Given the description of an element on the screen output the (x, y) to click on. 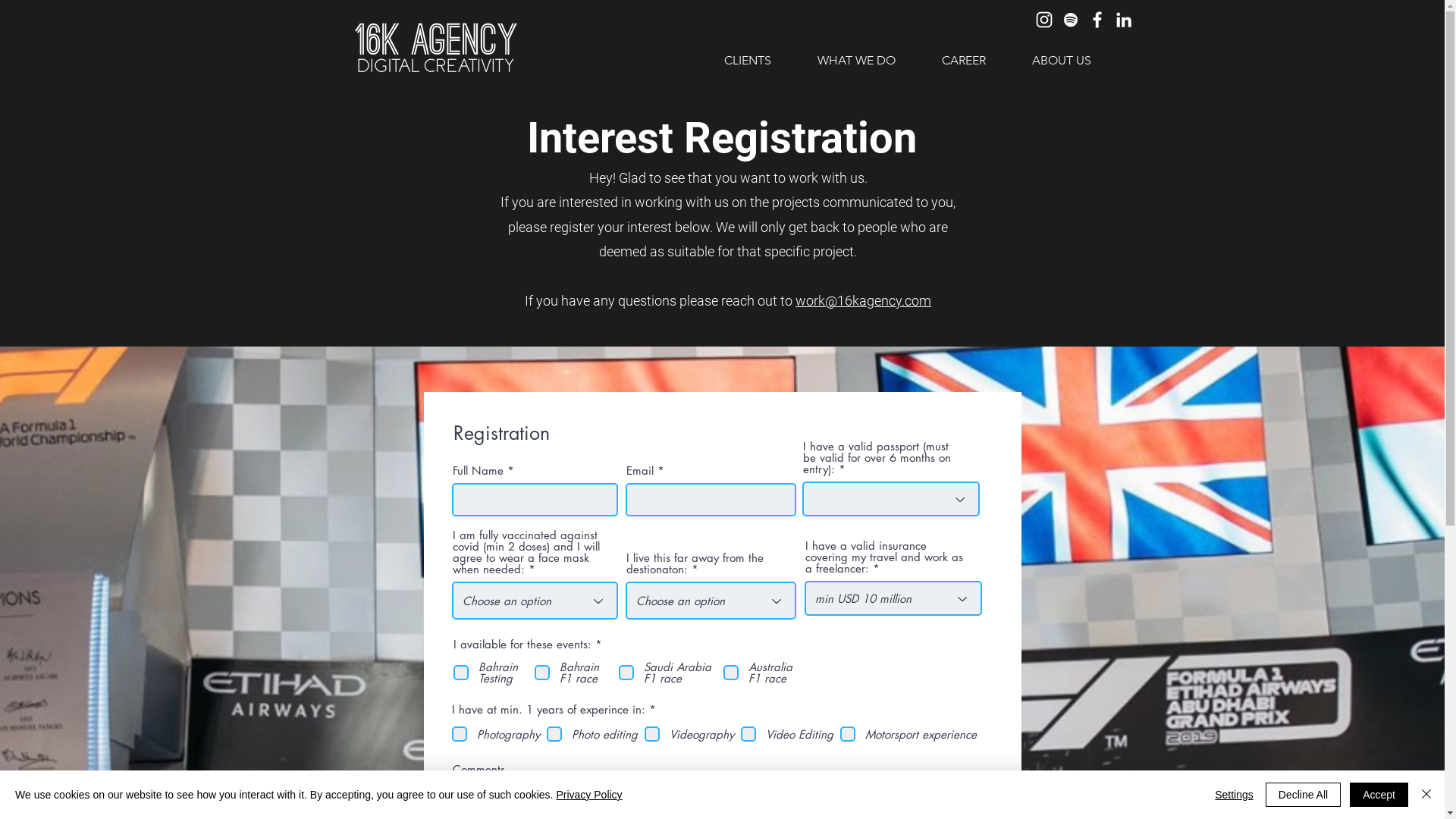
Accept Element type: text (1378, 794)
Privacy Policy Element type: text (588, 794)
work@16kagency.com Element type: text (863, 300)
CLIENTS Element type: text (746, 60)
ABOUT US Element type: text (1060, 60)
CAREER Element type: text (962, 60)
Decline All Element type: text (1302, 794)
WHAT WE DO Element type: text (855, 60)
